Given the description of an element on the screen output the (x, y) to click on. 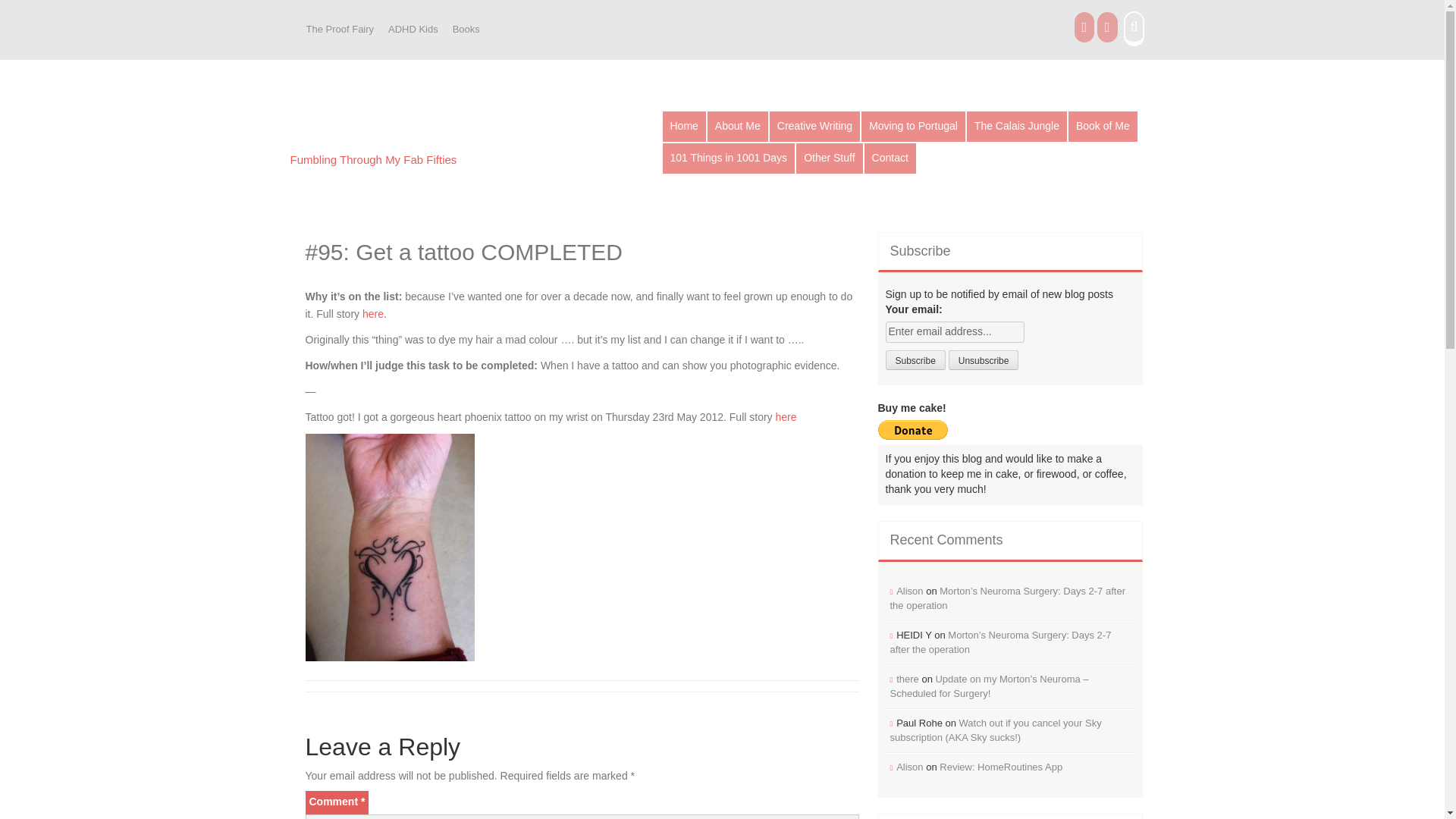
101 Things in 1001 Days (728, 158)
Subscribe (914, 360)
ADHD Kids (413, 29)
Unsubscribe (984, 360)
Other Stuff (828, 158)
Calais (1016, 126)
Creative Writing (815, 126)
Moving to Portugal (913, 126)
Home (684, 126)
The Proof Fairy (339, 29)
Books (465, 29)
Book of Me (1102, 126)
Stuff and Nonsense (409, 131)
The Calais Jungle (1016, 126)
Contact (889, 158)
